Given the description of an element on the screen output the (x, y) to click on. 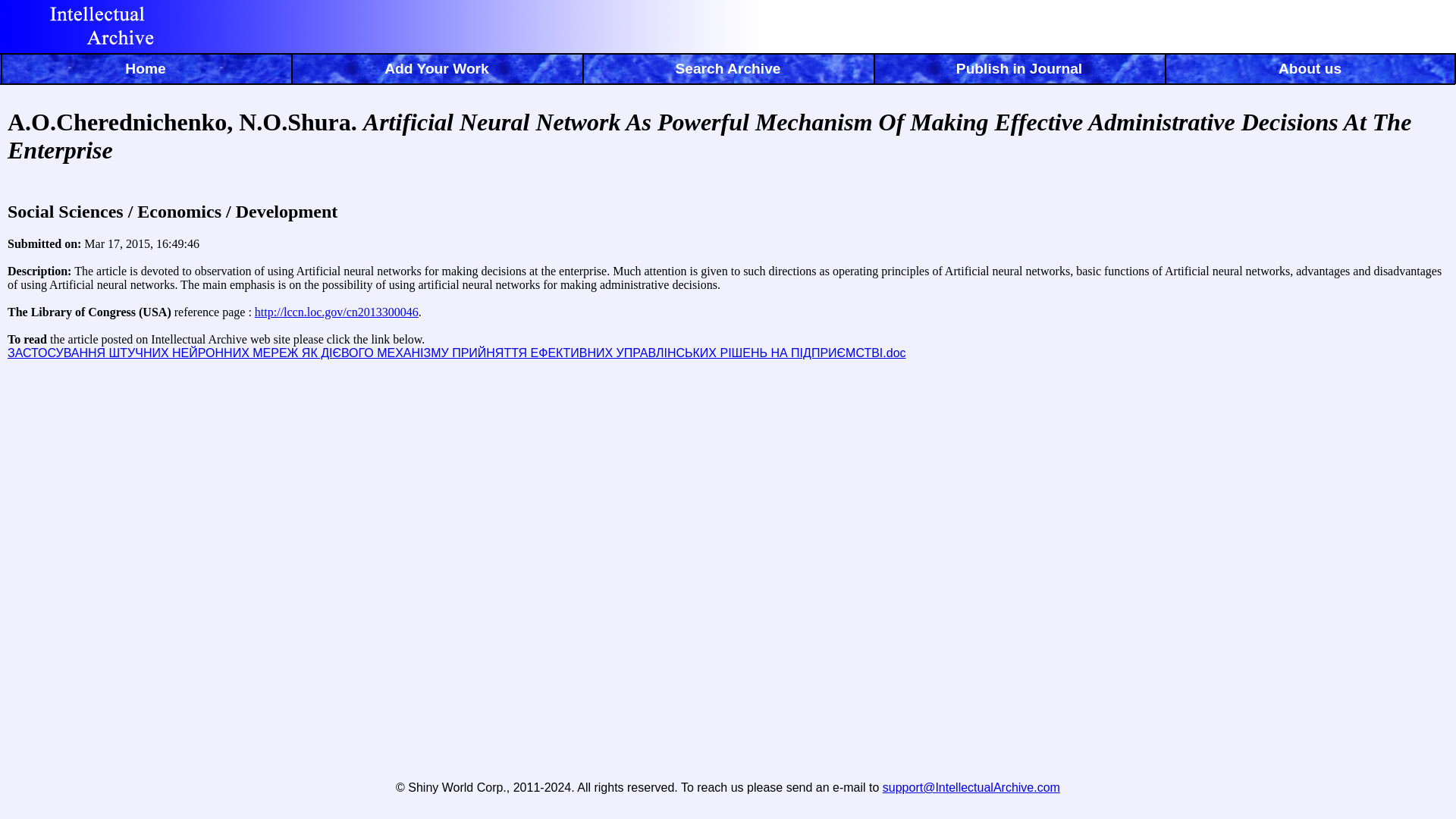
Publish in Journal (1018, 71)
About us (1309, 71)
Search Archive (727, 71)
Add Your Work (436, 71)
Home (145, 71)
